Given the description of an element on the screen output the (x, y) to click on. 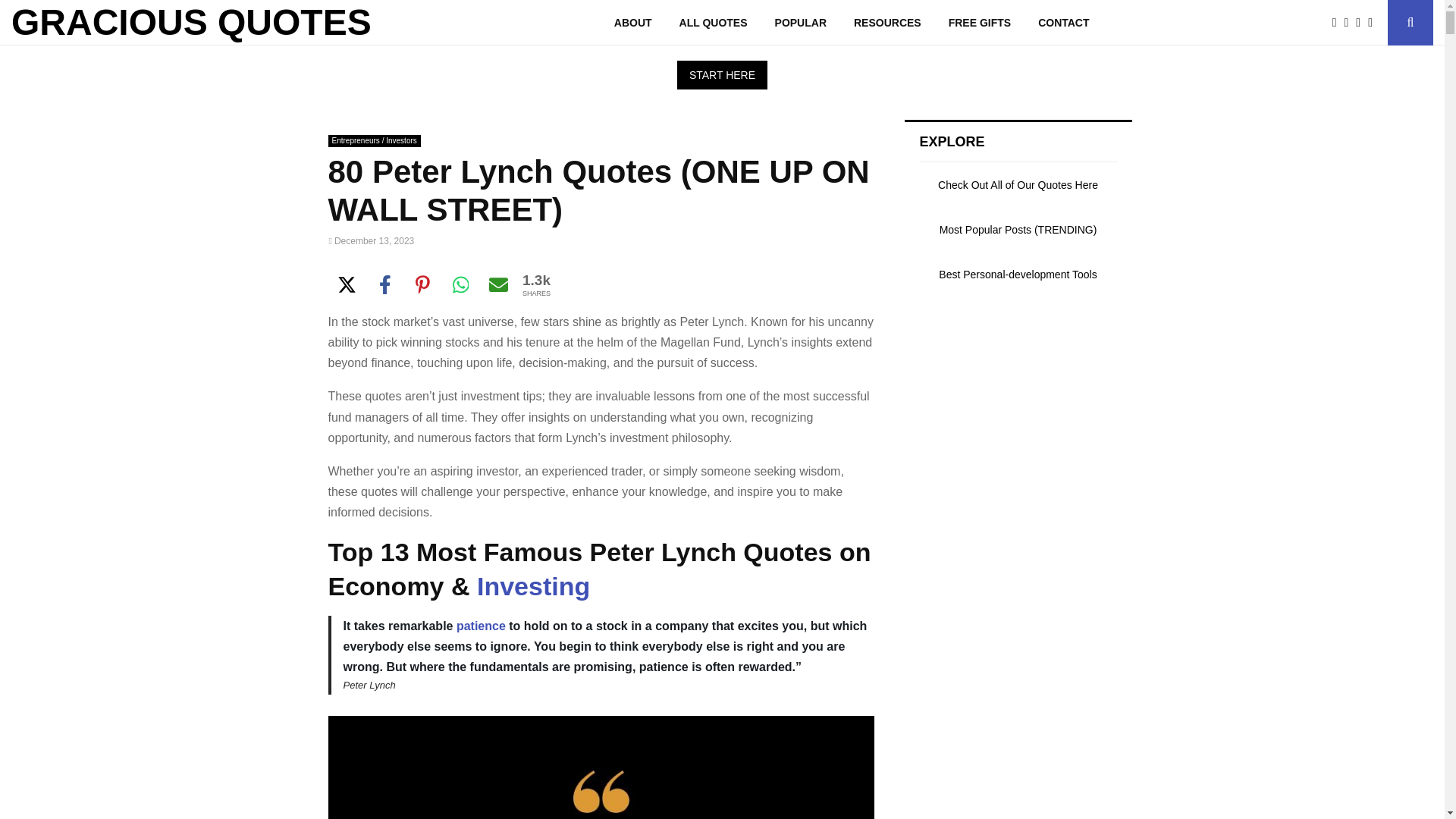
ABOUT (632, 22)
FREE GIFTS (979, 22)
POPULAR (800, 22)
CONTACT (1063, 22)
patience (481, 625)
RESOURCES (887, 22)
Investing (533, 585)
START HERE (722, 74)
GRACIOUS QUOTES (191, 22)
ALL QUOTES (713, 22)
